Given the description of an element on the screen output the (x, y) to click on. 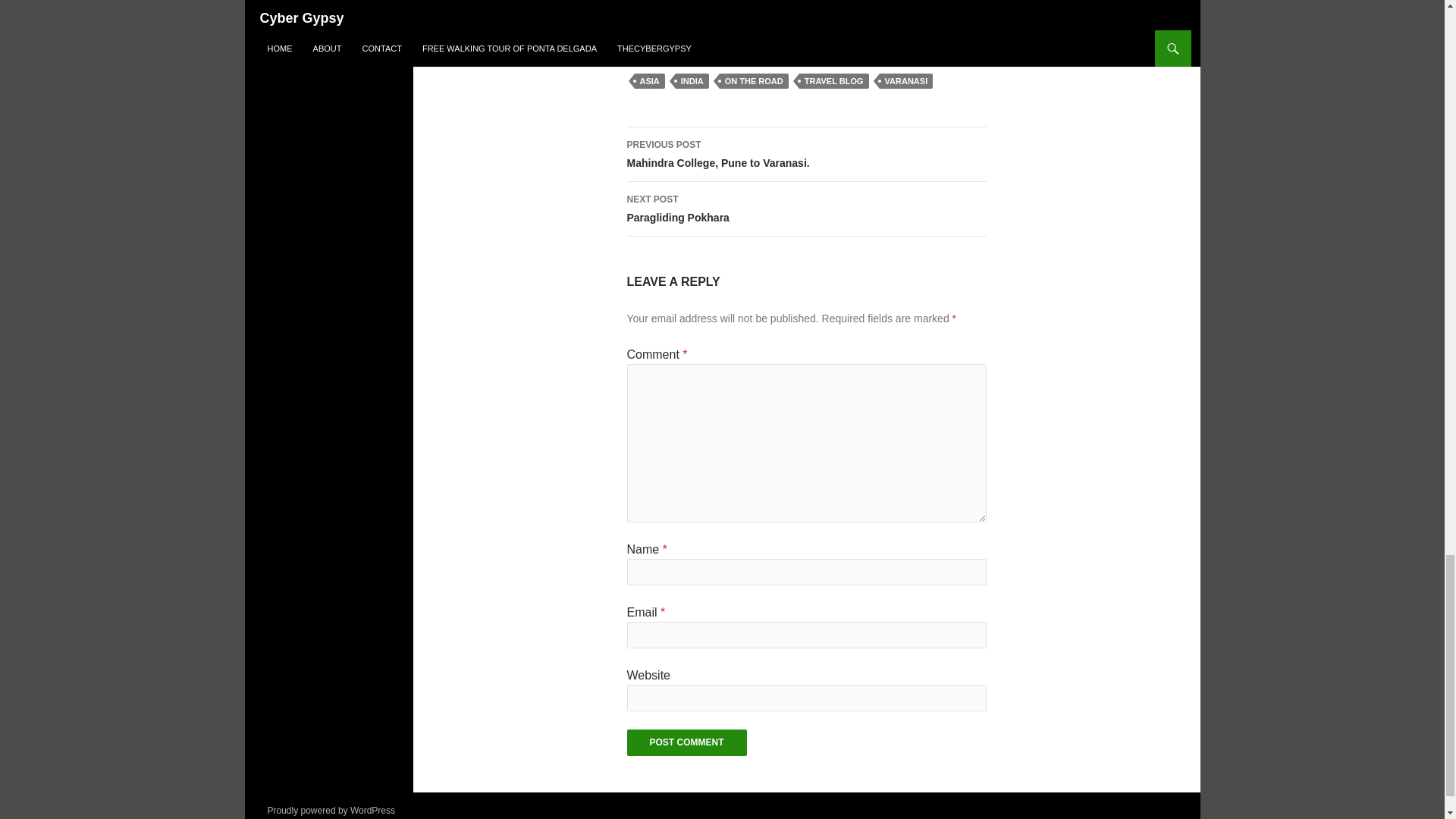
TRAVEL BLOG (805, 208)
VARANASI (834, 80)
ASIA (906, 80)
Post Comment (648, 80)
Post Comment (685, 742)
INDIA (685, 742)
ON THE ROAD (692, 80)
